Given the description of an element on the screen output the (x, y) to click on. 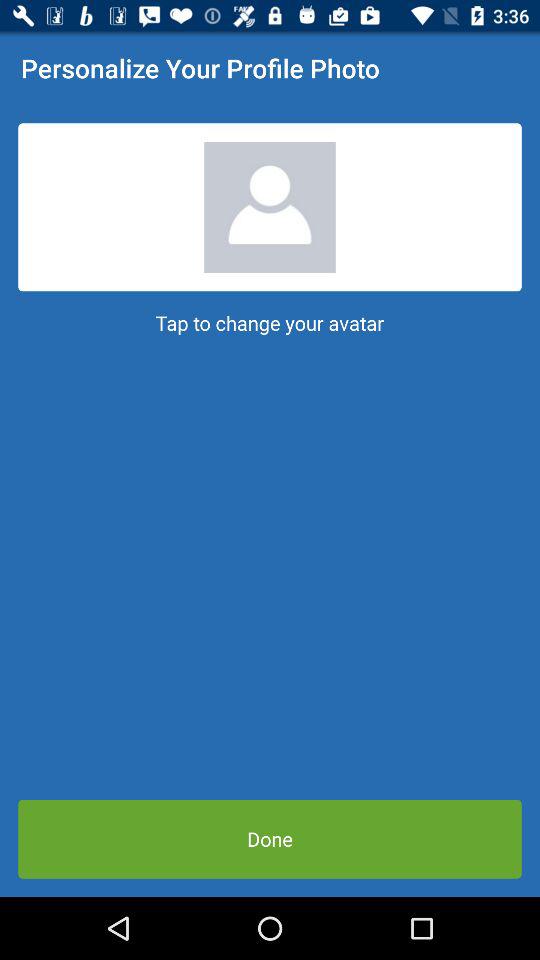
launch item below tap to change icon (269, 838)
